Given the description of an element on the screen output the (x, y) to click on. 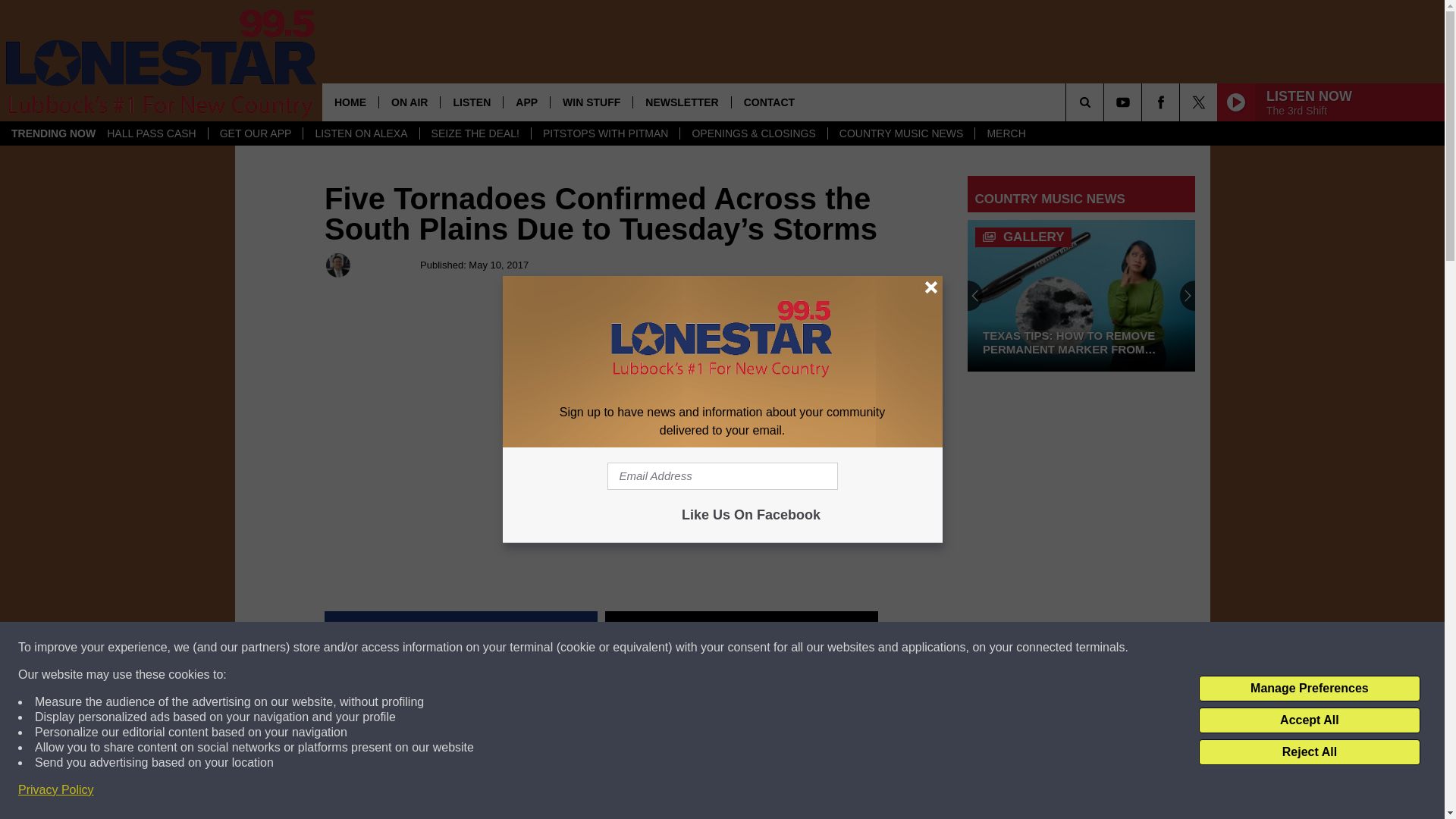
SEARCH (1106, 102)
LISTEN (470, 102)
LISTEN ON ALEXA (360, 133)
HOME (349, 102)
HALL PASS CASH (152, 133)
Share on Facebook (460, 629)
Manage Preferences (1309, 688)
Reject All (1309, 751)
SEIZE THE DEAL! (475, 133)
SEARCH (1106, 102)
COUNTRY MUSIC NEWS (901, 133)
APP (526, 102)
MERCH (1005, 133)
GET OUR APP (255, 133)
Share on Twitter (741, 629)
